Given the description of an element on the screen output the (x, y) to click on. 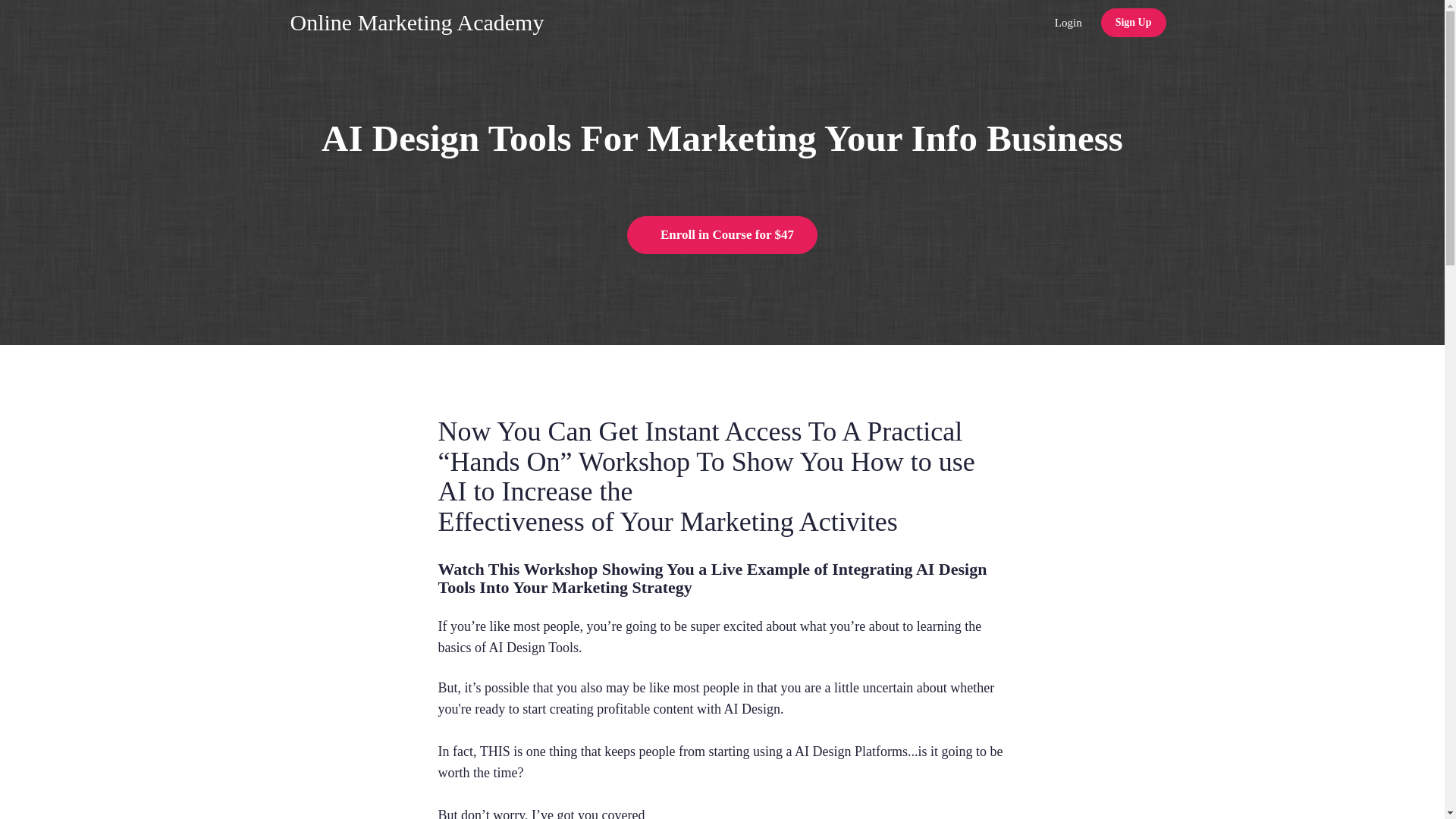
Sign Up (1133, 22)
Login (1068, 22)
Online Marketing Academy (417, 22)
